Given the description of an element on the screen output the (x, y) to click on. 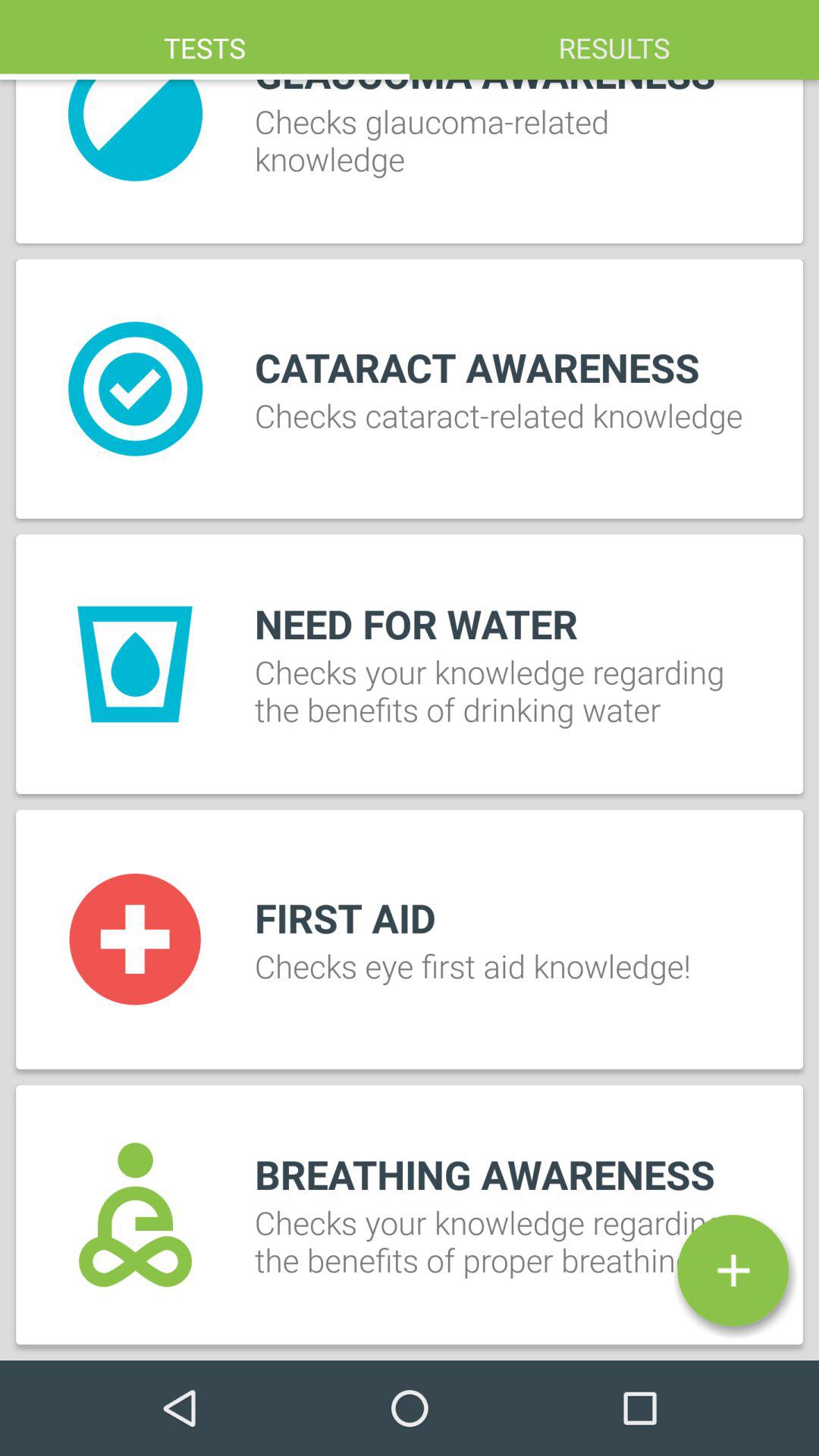
choose the item to the left of results item (204, 39)
